Given the description of an element on the screen output the (x, y) to click on. 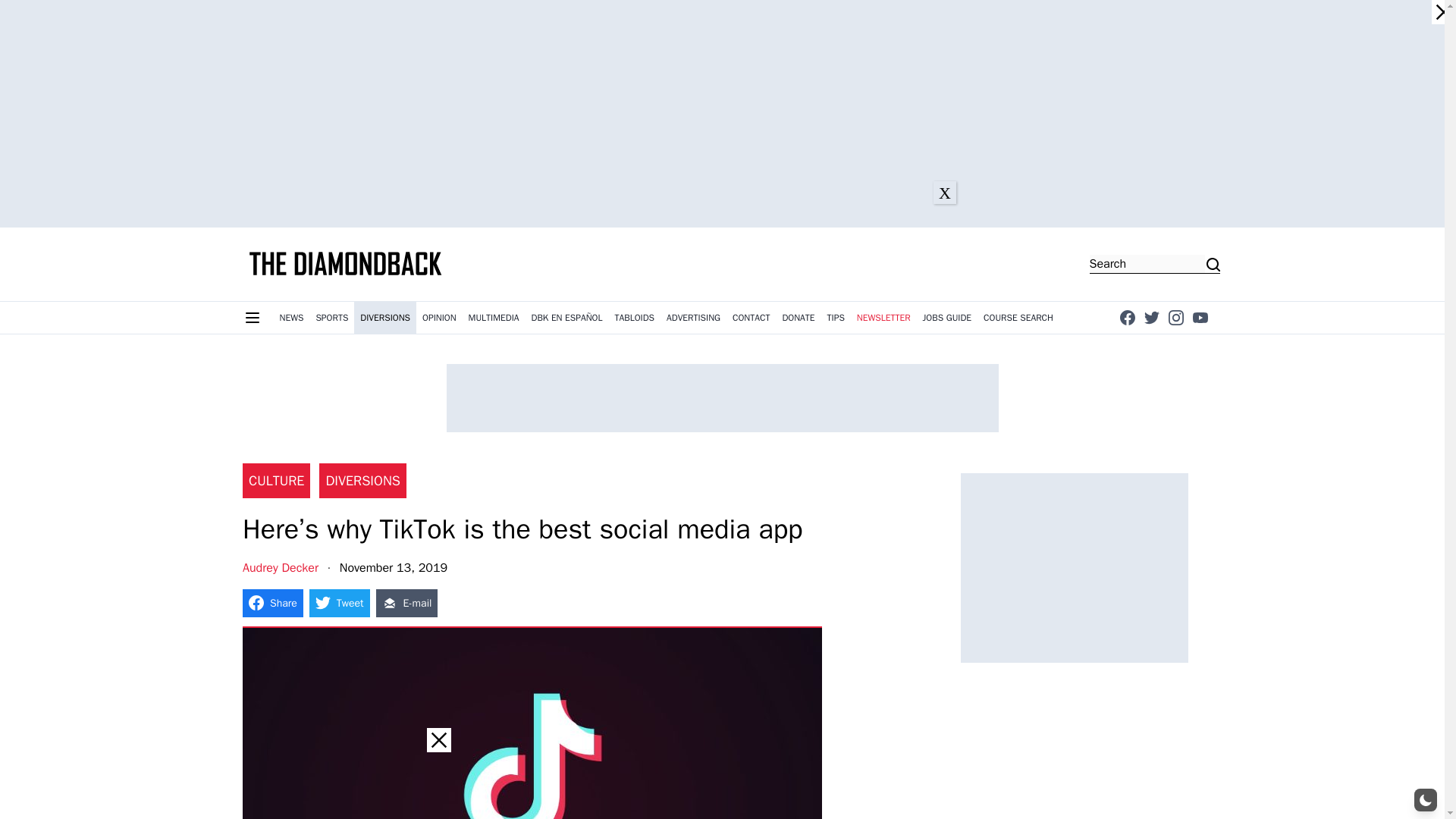
NEWSLETTER (883, 317)
DONATE (798, 317)
TIPS (835, 317)
NEWS (290, 317)
Diversions (384, 317)
OPINION (439, 317)
News (290, 317)
JOBS GUIDE (947, 317)
Advertising (693, 317)
Course Search (1017, 317)
Tips (835, 317)
SPORTS (330, 317)
Sports (330, 317)
The Diamondback on Facebook (1126, 317)
